Given the description of an element on the screen output the (x, y) to click on. 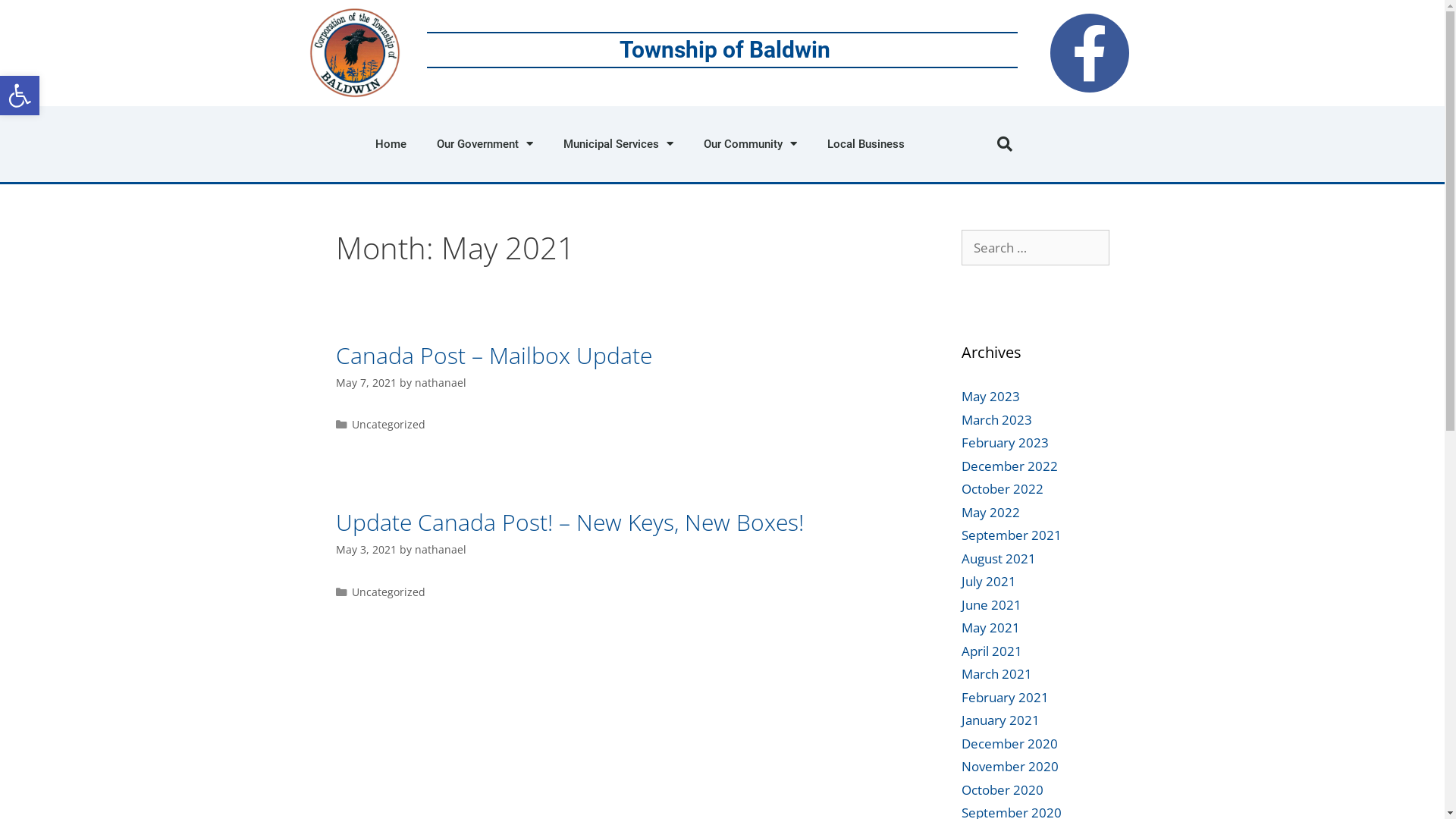
Municipal Services Element type: text (618, 143)
May 2023 Element type: text (990, 395)
March 2021 Element type: text (996, 673)
July 2021 Element type: text (988, 580)
Uncategorized Element type: text (388, 424)
Our Government Element type: text (484, 143)
Our Community Element type: text (750, 143)
April 2021 Element type: text (991, 650)
Uncategorized Element type: text (388, 591)
Search for: Element type: hover (1035, 247)
Home Element type: text (390, 143)
May 2022 Element type: text (990, 511)
May 2021 Element type: text (990, 627)
November 2020 Element type: text (1009, 766)
August 2021 Element type: text (998, 558)
June 2021 Element type: text (991, 604)
January 2021 Element type: text (1000, 719)
February 2021 Element type: text (1004, 697)
nathanael Element type: text (439, 382)
Search Element type: text (36, 18)
September 2021 Element type: text (1011, 534)
Open toolbar
Accessibility Tools Element type: text (19, 95)
Township of Baldwin Element type: text (724, 49)
October 2022 Element type: text (1002, 488)
December 2020 Element type: text (1009, 743)
October 2020 Element type: text (1002, 789)
Local Business Element type: text (865, 143)
March 2023 Element type: text (996, 419)
December 2022 Element type: text (1009, 465)
nathanael Element type: text (439, 549)
February 2023 Element type: text (1004, 442)
